Given the description of an element on the screen output the (x, y) to click on. 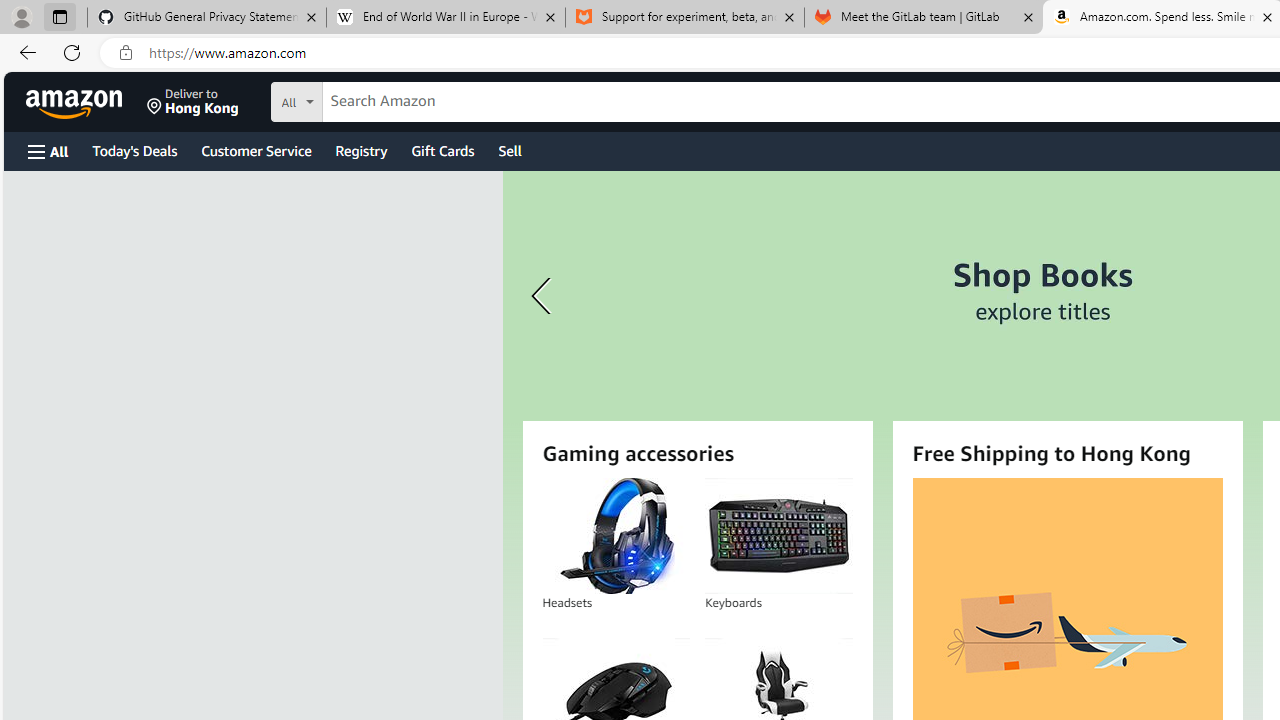
Deliver to Hong Kong (193, 101)
Meet the GitLab team | GitLab (924, 17)
GitHub General Privacy Statement - GitHub Docs (207, 17)
End of World War II in Europe - Wikipedia (445, 17)
Headsets (616, 536)
Sell (509, 150)
Skip to main content (86, 100)
Headsets (615, 536)
